Given the description of an element on the screen output the (x, y) to click on. 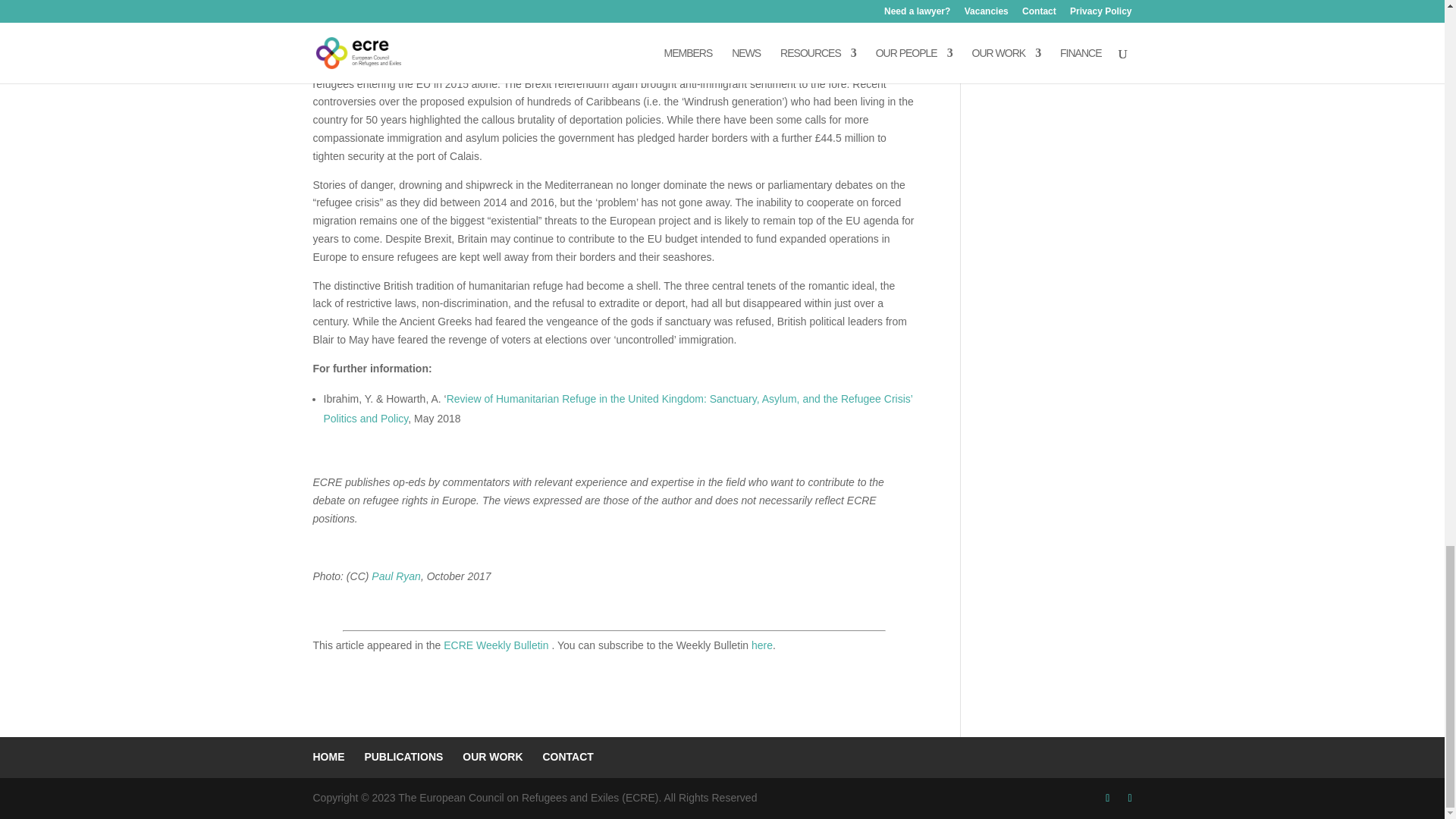
PUBLICATIONS (403, 756)
OUR WORK (492, 756)
ECRE Weekly Bulletin (497, 645)
here (762, 645)
CONTACT (566, 756)
HOME (328, 756)
Go to Paul Ryan's photostream (395, 576)
Paul Ryan (395, 576)
